Given the description of an element on the screen output the (x, y) to click on. 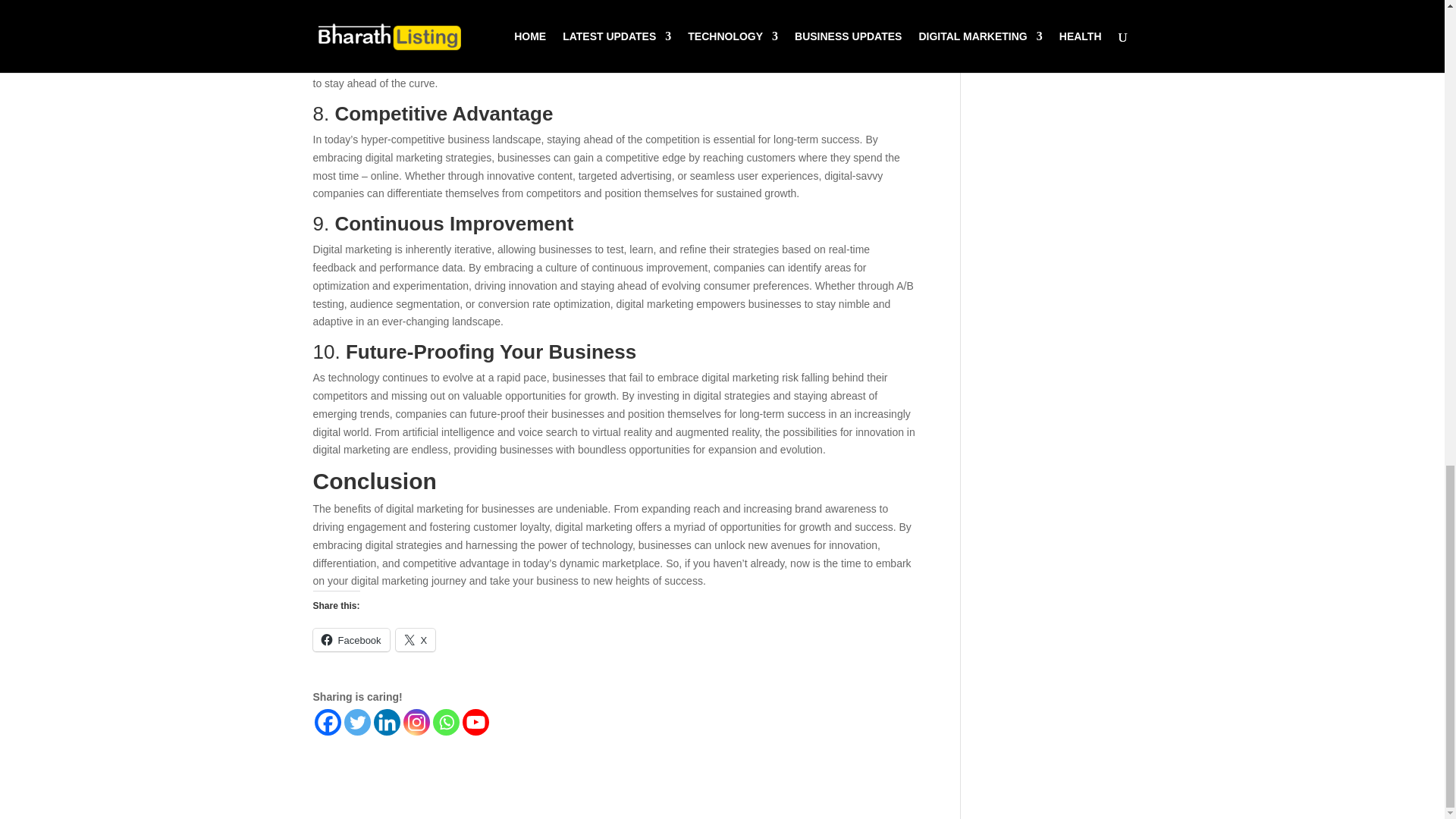
Click to share on Facebook (350, 639)
Facebook (350, 639)
Facebook (327, 722)
Linkedin (385, 722)
Click to share on X (415, 639)
Twitter (357, 722)
X (415, 639)
